Given the description of an element on the screen output the (x, y) to click on. 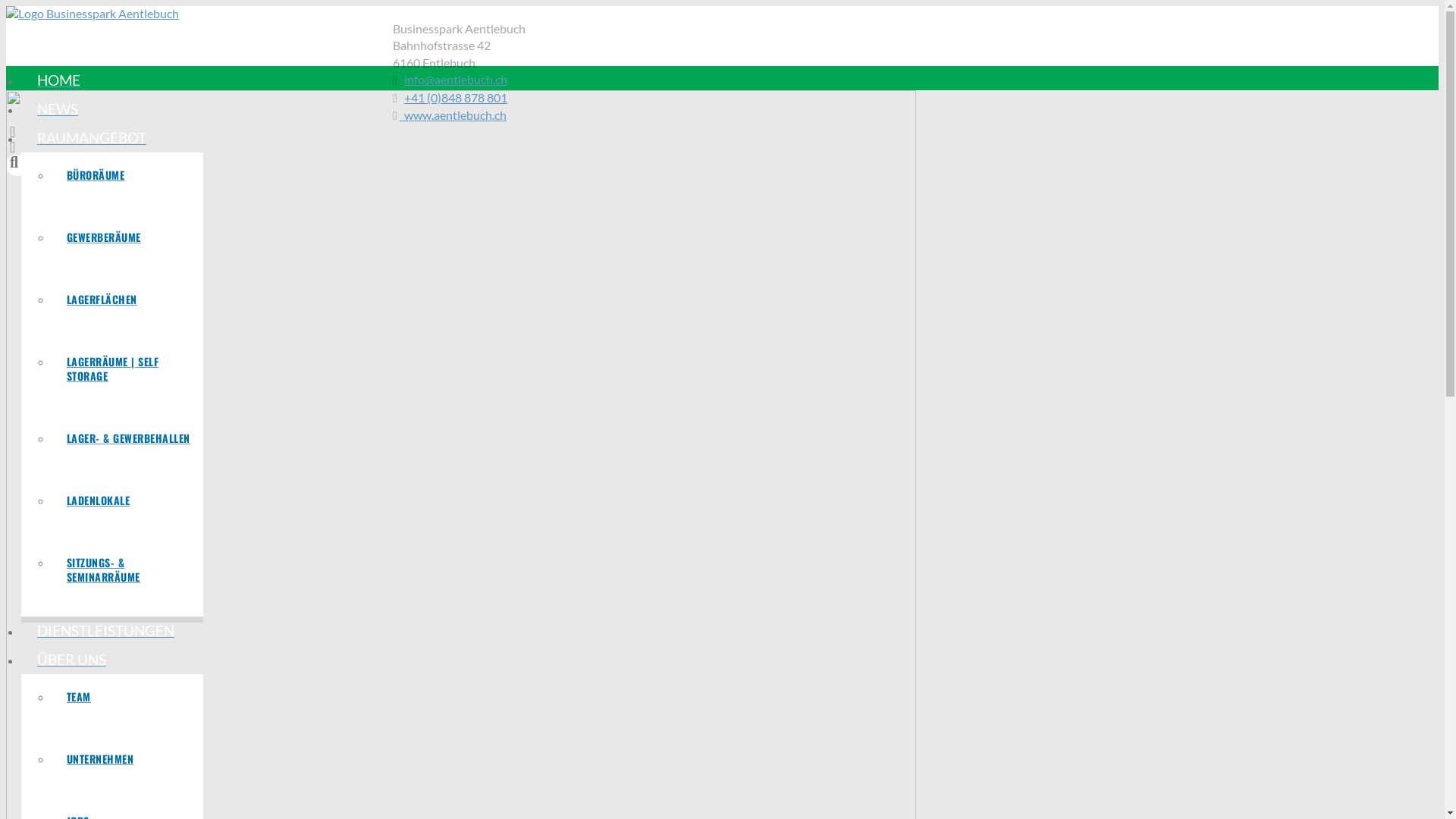
HOME Element type: text (476, 79)
NEWS Element type: text (476, 108)
info@aentlebuch.ch Element type: text (455, 79)
RAUMANGEBOT Element type: text (476, 137)
TEAM Element type: text (127, 705)
LADENLOKALE Element type: text (127, 508)
+41 (0)848 878 801 Element type: text (455, 97)
DIENSTLEISTUNGEN Element type: text (476, 630)
  www.aentlebuch.ch Element type: text (452, 114)
LAGER- & GEWERBEHALLEN Element type: text (127, 446)
UNTERNEHMEN Element type: text (127, 767)
